Given the description of an element on the screen output the (x, y) to click on. 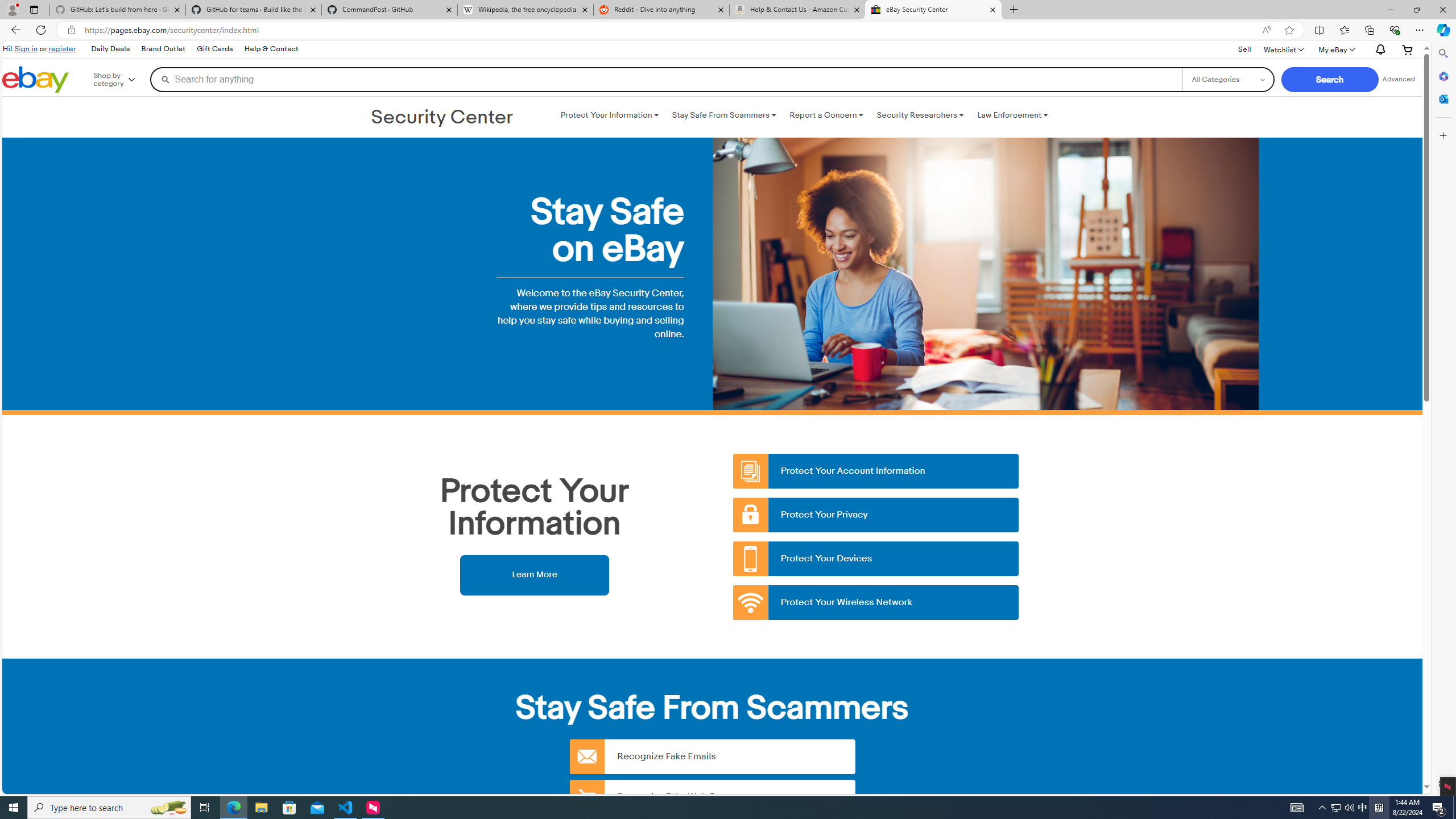
Brand Outlet (162, 49)
Sign in (25, 48)
